Given the description of an element on the screen output the (x, y) to click on. 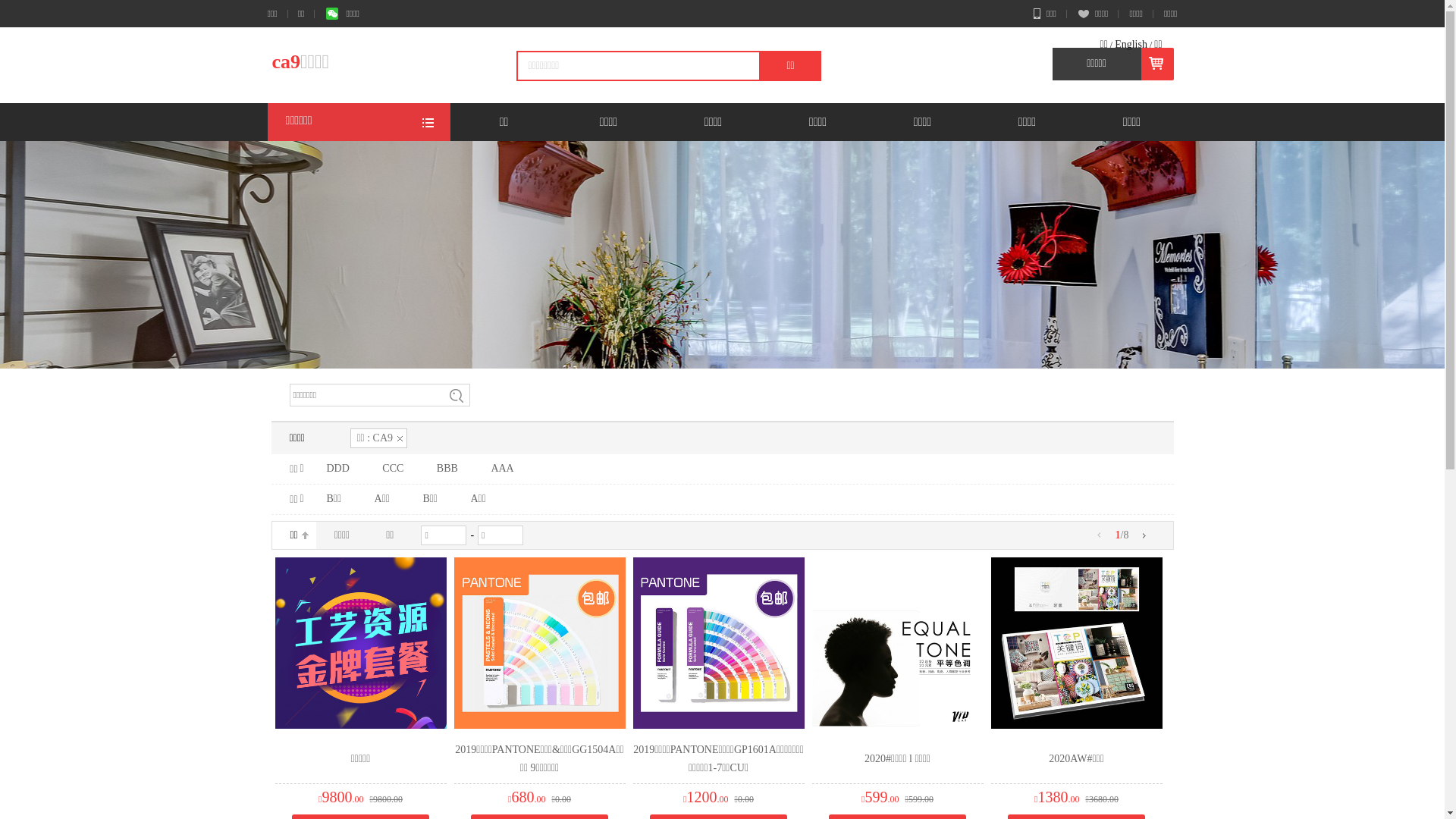
English Element type: text (1130, 44)
DDD Element type: text (337, 468)
BBB Element type: text (447, 468)
AAA Element type: text (501, 468)
CCC Element type: text (392, 468)
